Given the description of an element on the screen output the (x, y) to click on. 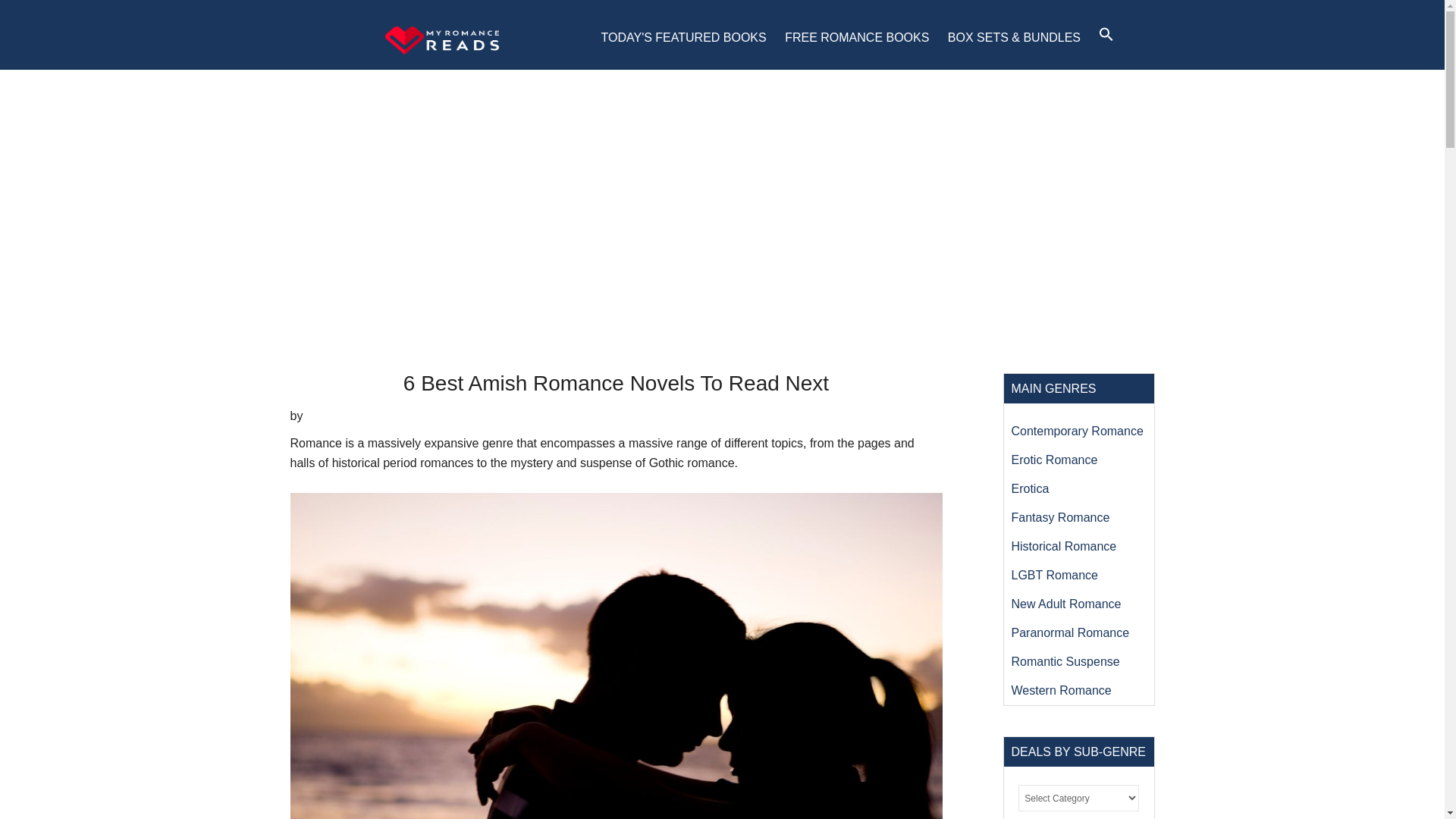
TODAY'S FEATURED BOOKS (682, 37)
FREE ROMANCE BOOKS (856, 37)
Contemporary Romance (1076, 431)
Erotic Romance (1054, 459)
